Given the description of an element on the screen output the (x, y) to click on. 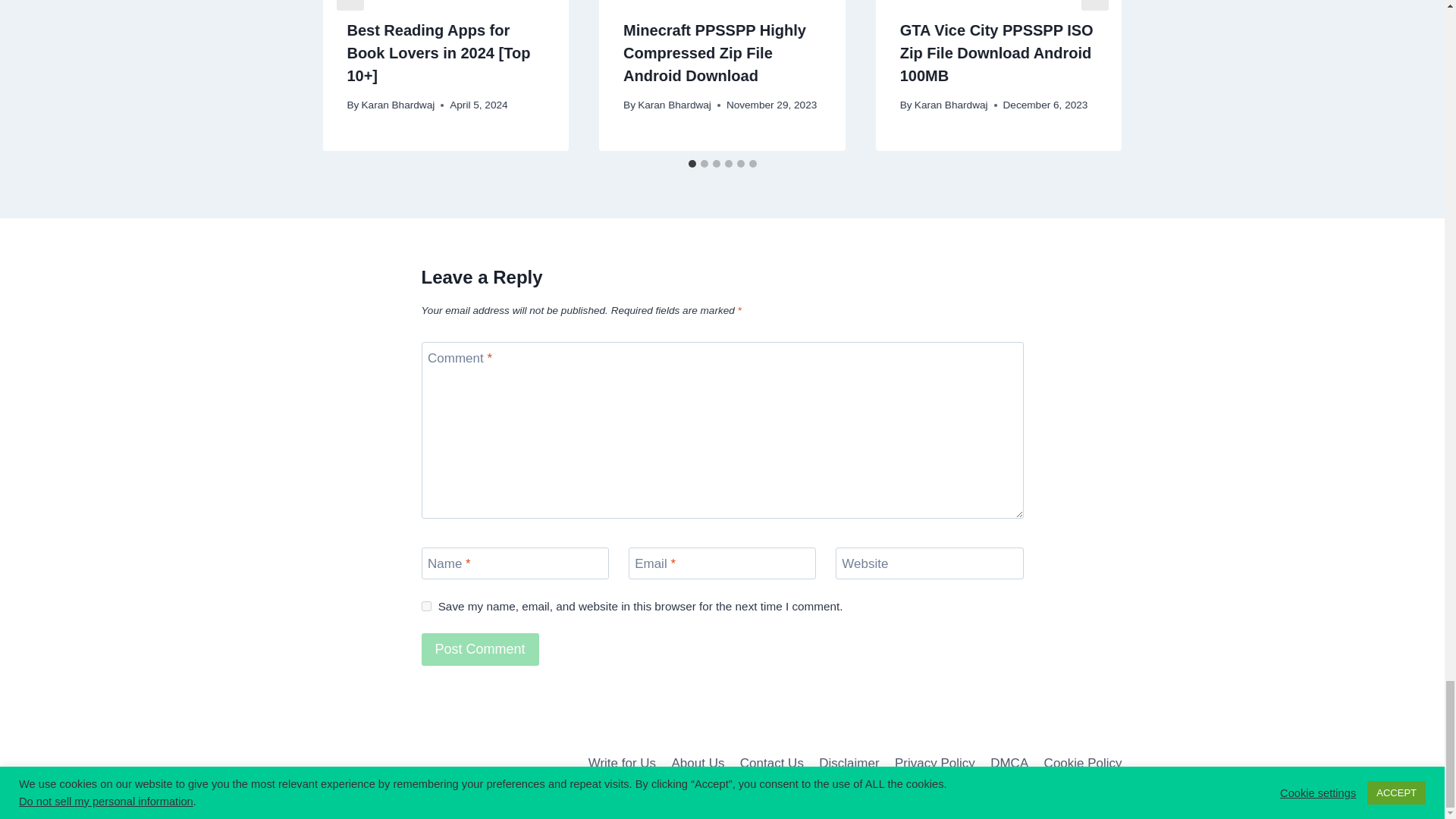
yes (426, 605)
Post Comment (480, 649)
